Given the description of an element on the screen output the (x, y) to click on. 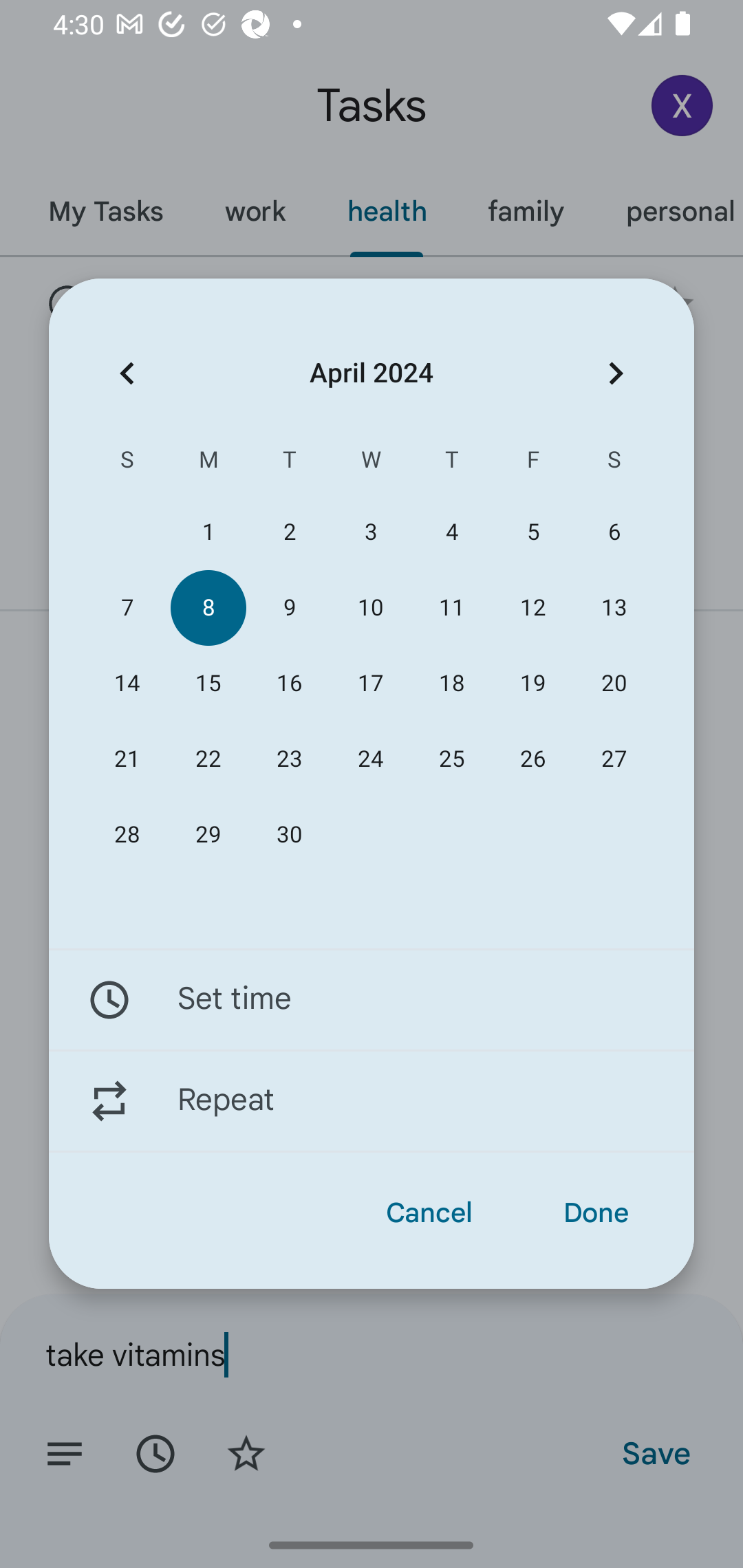
Previous month (126, 372)
Next month (615, 372)
1 01 April 2024 (207, 531)
2 02 April 2024 (288, 531)
3 03 April 2024 (370, 531)
4 04 April 2024 (451, 531)
5 05 April 2024 (532, 531)
6 06 April 2024 (613, 531)
7 07 April 2024 (126, 608)
8 08 April 2024 (207, 608)
9 09 April 2024 (288, 608)
10 10 April 2024 (370, 608)
11 11 April 2024 (451, 608)
12 12 April 2024 (532, 608)
13 13 April 2024 (613, 608)
14 14 April 2024 (126, 683)
15 15 April 2024 (207, 683)
16 16 April 2024 (288, 683)
17 17 April 2024 (370, 683)
18 18 April 2024 (451, 683)
19 19 April 2024 (532, 683)
20 20 April 2024 (613, 683)
21 21 April 2024 (126, 758)
22 22 April 2024 (207, 758)
23 23 April 2024 (288, 758)
24 24 April 2024 (370, 758)
25 25 April 2024 (451, 758)
26 26 April 2024 (532, 758)
27 27 April 2024 (613, 758)
28 28 April 2024 (126, 834)
29 29 April 2024 (207, 834)
30 30 April 2024 (288, 834)
Set time (371, 999)
Repeat (371, 1101)
Cancel (429, 1213)
Done (595, 1213)
